Given the description of an element on the screen output the (x, y) to click on. 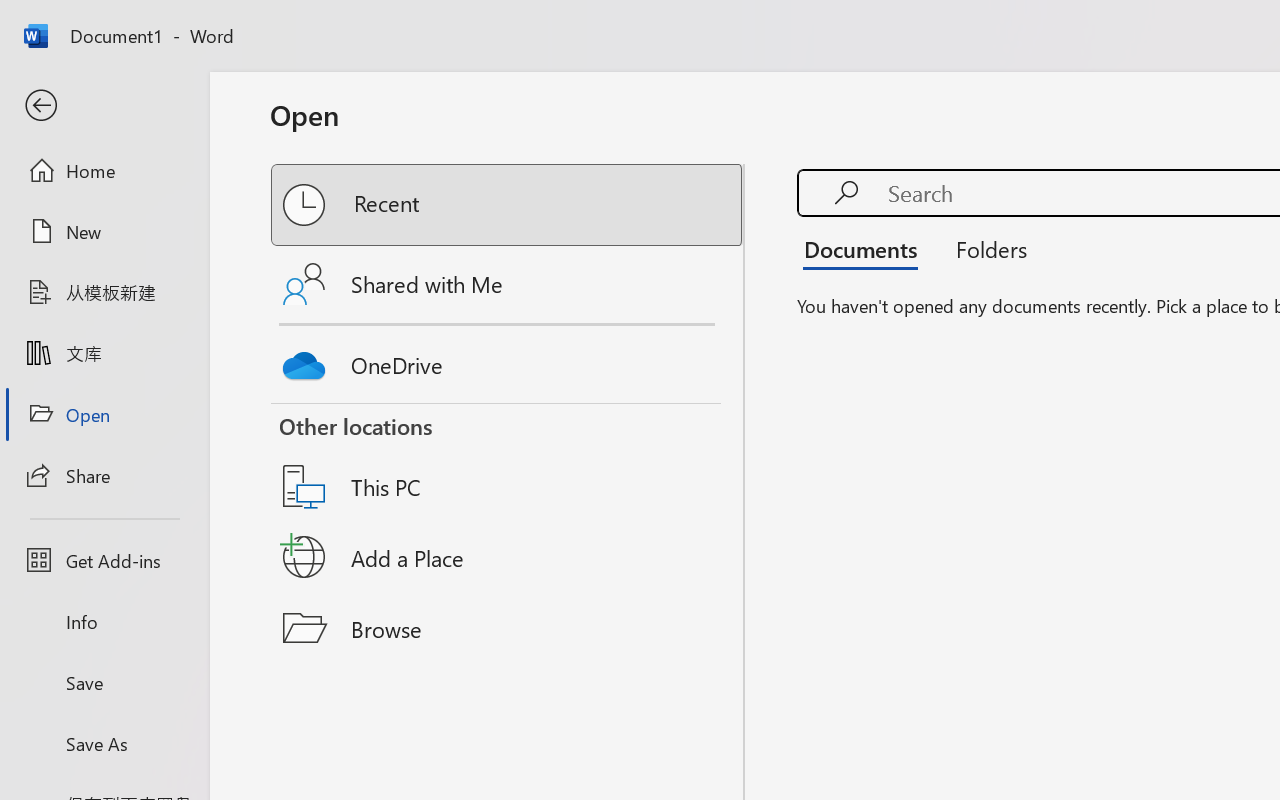
Folders (984, 248)
OneDrive (507, 359)
Recent (507, 205)
Shared with Me (507, 283)
